Given the description of an element on the screen output the (x, y) to click on. 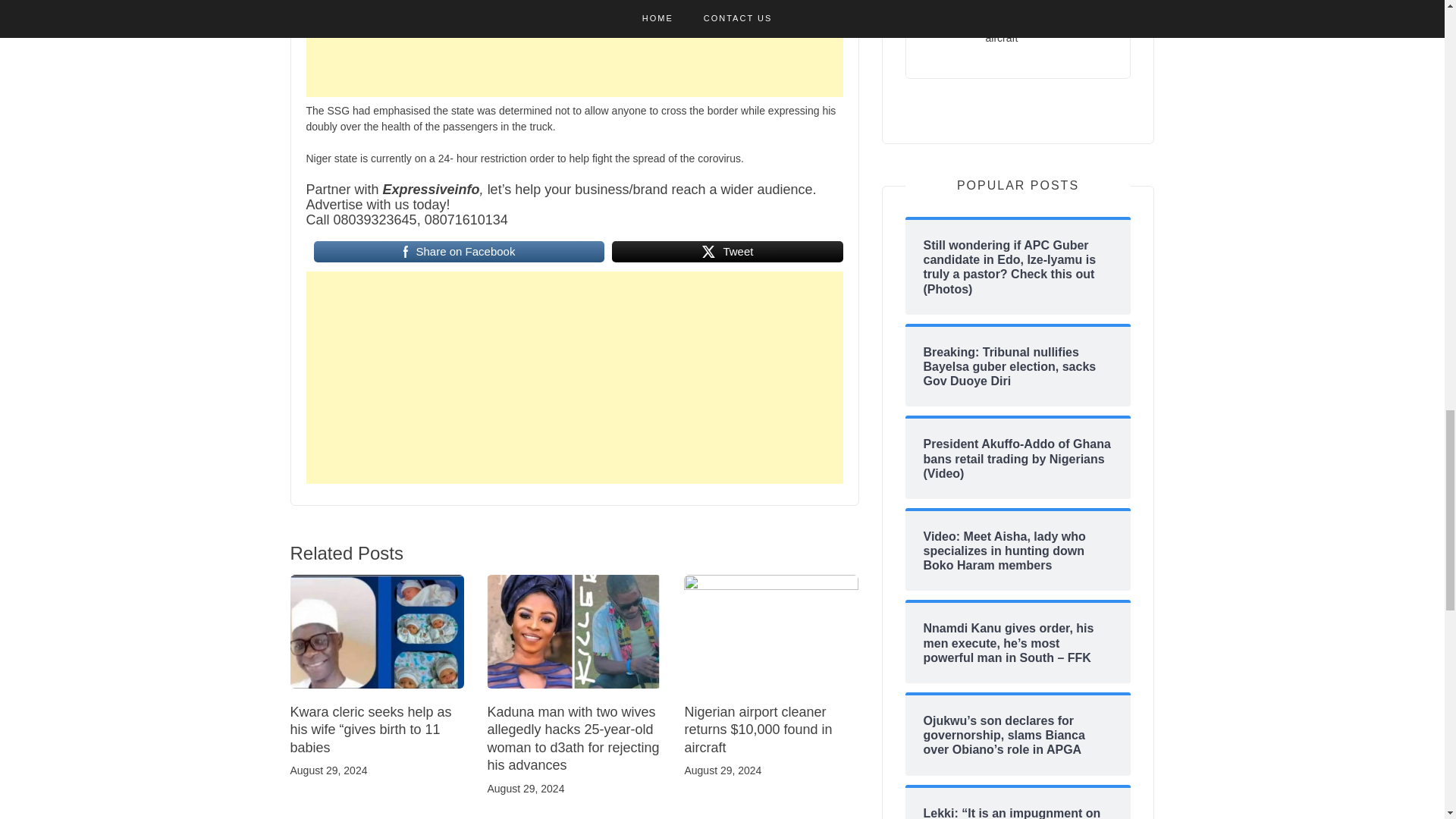
Tweet (727, 251)
Share on Facebook (459, 251)
